Given the description of an element on the screen output the (x, y) to click on. 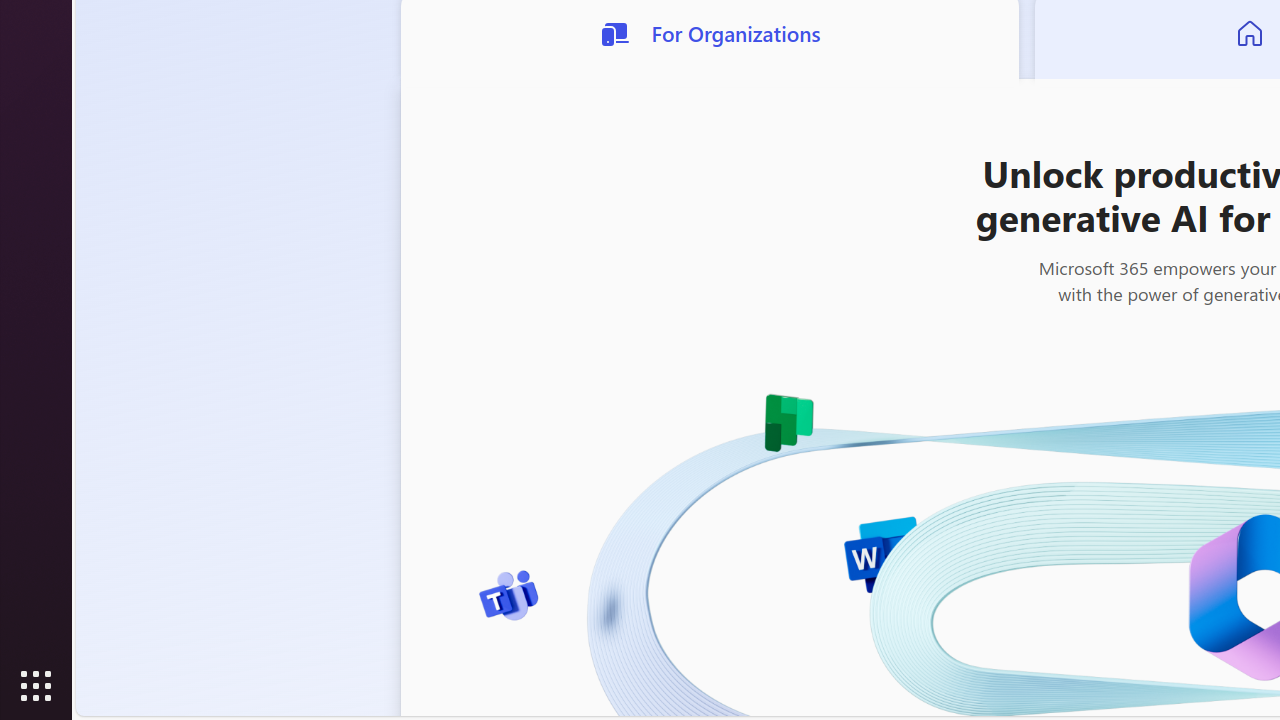
Show Applications Element type: toggle-button (36, 686)
